Given the description of an element on the screen output the (x, y) to click on. 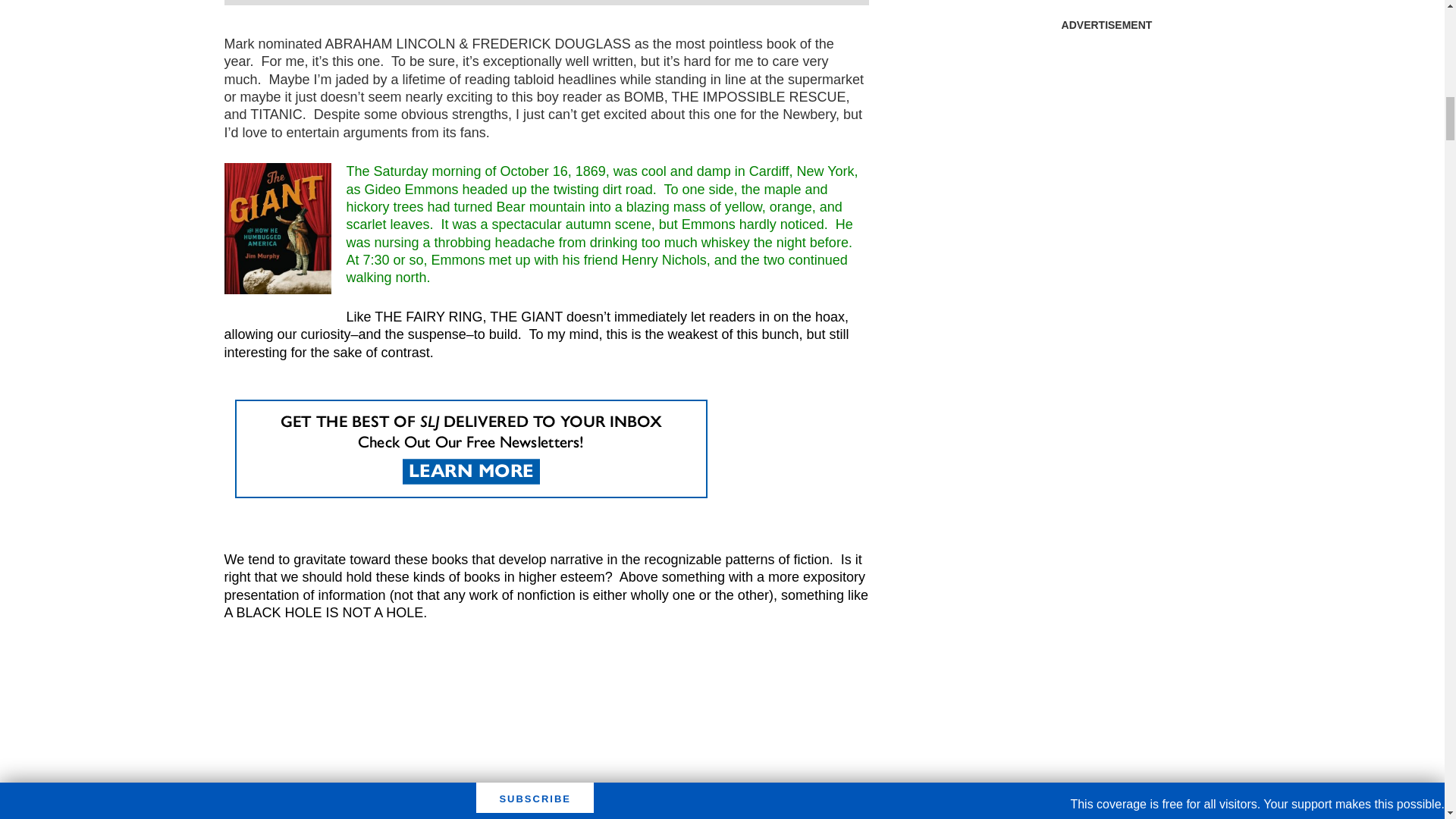
3rd party ad content (1106, 134)
